Given the description of an element on the screen output the (x, y) to click on. 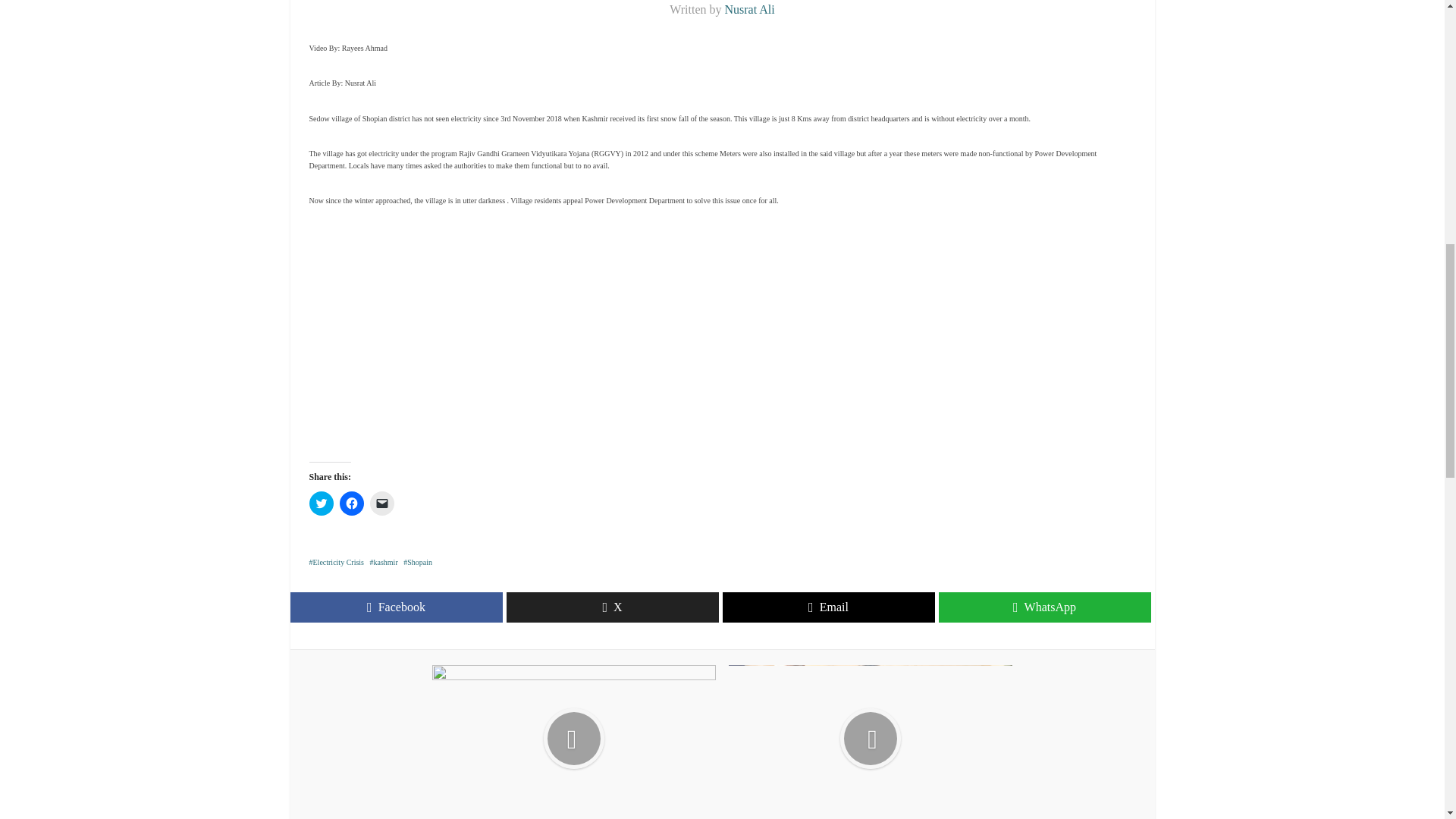
Click to share on Facebook (351, 503)
Click to share on Twitter (320, 503)
Click to email a link to a friend (381, 503)
